Given the description of an element on the screen output the (x, y) to click on. 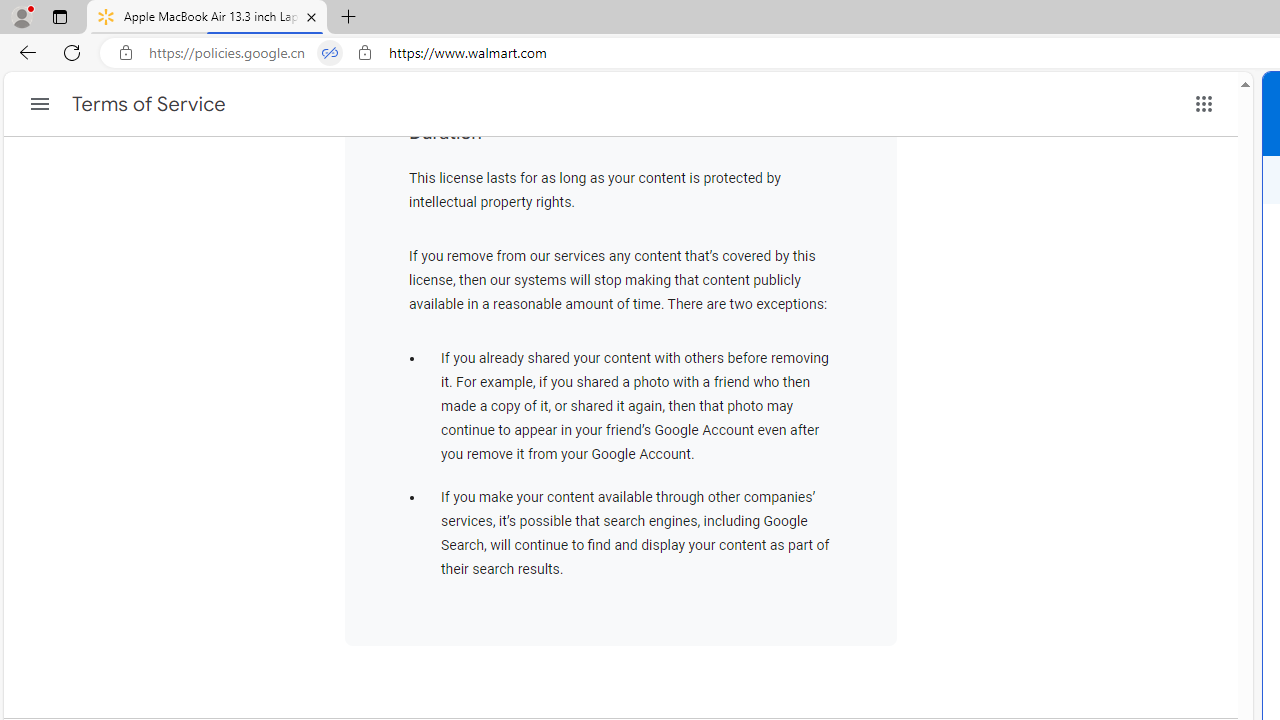
Tabs in split screen (330, 53)
